Given the description of an element on the screen output the (x, y) to click on. 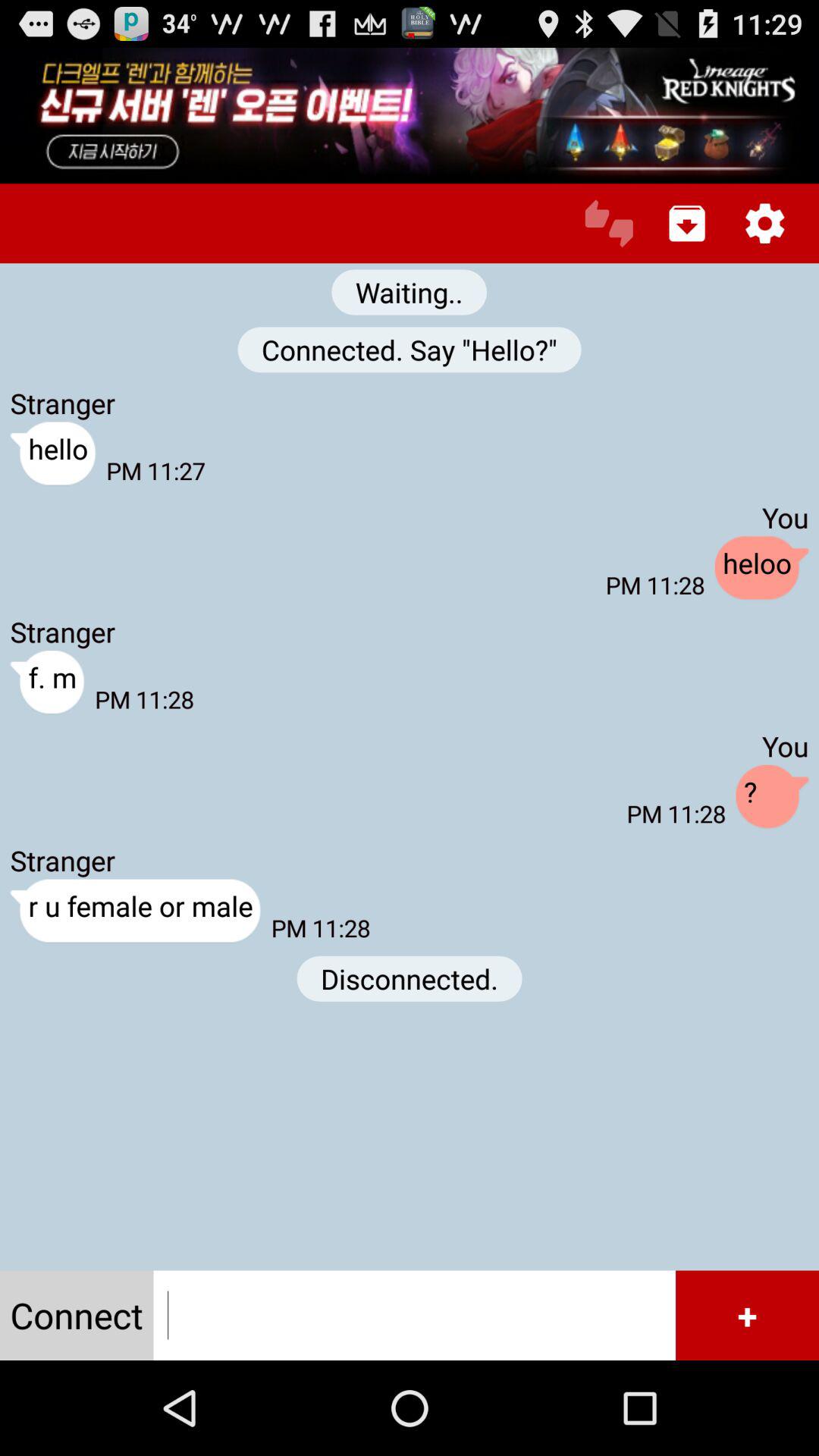
choose item above the connected. say "hello?" app (408, 292)
